Given the description of an element on the screen output the (x, y) to click on. 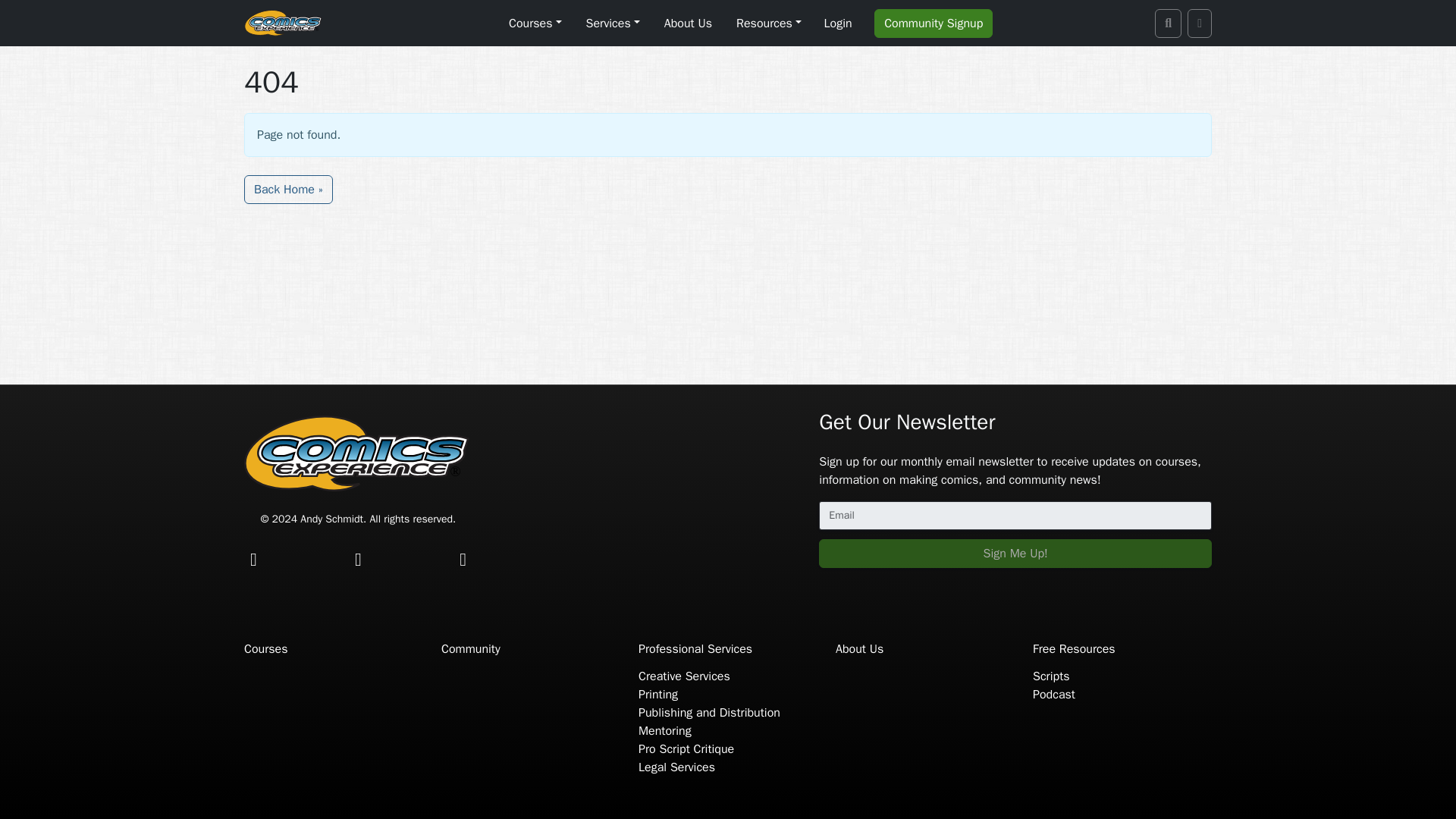
Cart (1199, 23)
Creative Services (684, 676)
Community Signup (933, 23)
Services (612, 22)
Courses (534, 22)
Login (837, 22)
Professional Services (695, 648)
Publishing and Distribution (709, 712)
Community (470, 648)
Sign Me Up! (1014, 553)
About Us (687, 22)
Search (1167, 23)
Printing (658, 694)
Legal Services (676, 767)
